Given the description of an element on the screen output the (x, y) to click on. 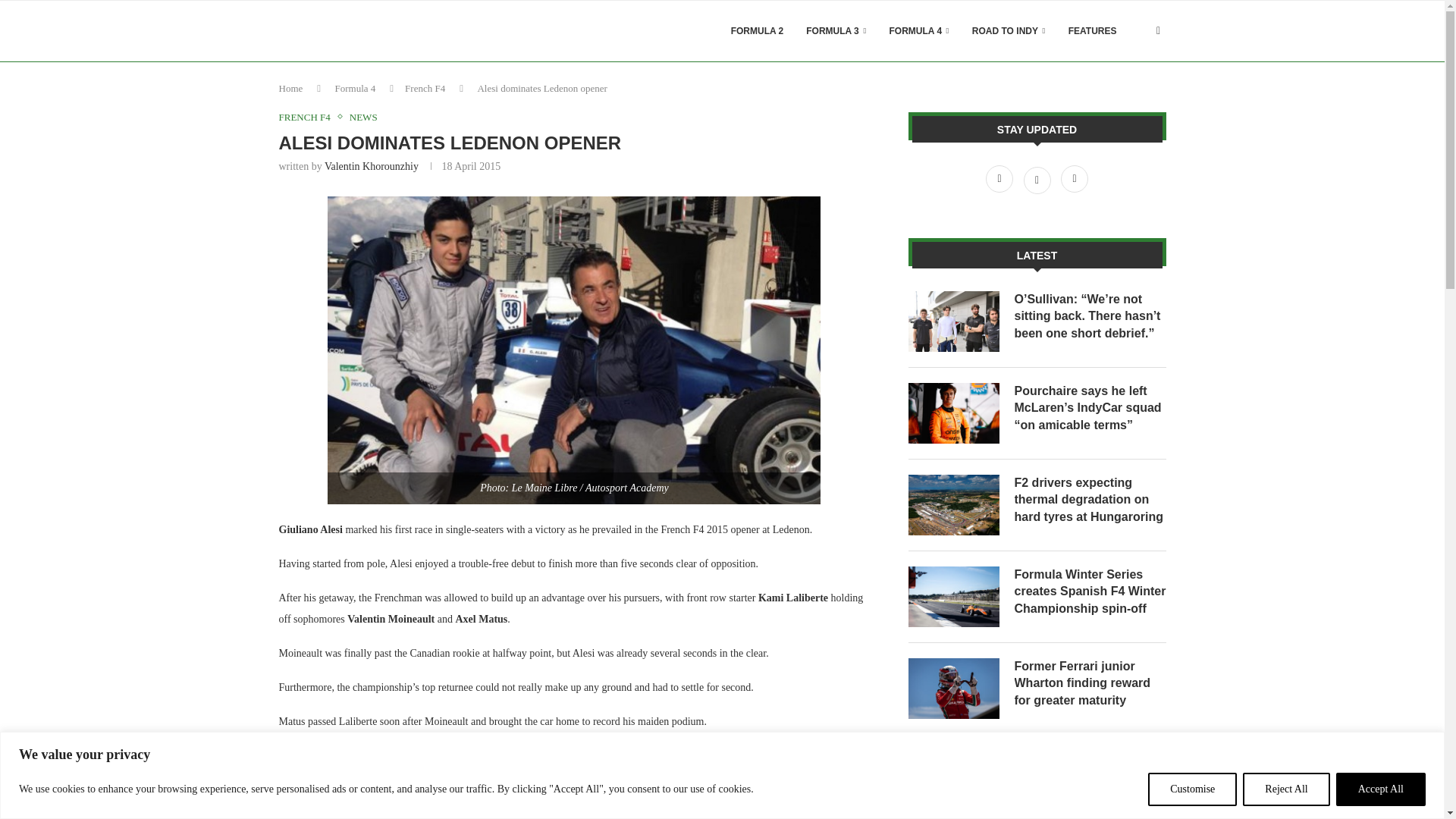
FRENCH F4 (308, 117)
Formula 4 (354, 88)
French F4 (424, 88)
Reject All (1286, 788)
NEWS (363, 117)
FORMULA 3 (836, 30)
Accept All (1380, 788)
FORMULA 4 (919, 30)
ROAD TO INDY (1008, 30)
